Given the description of an element on the screen output the (x, y) to click on. 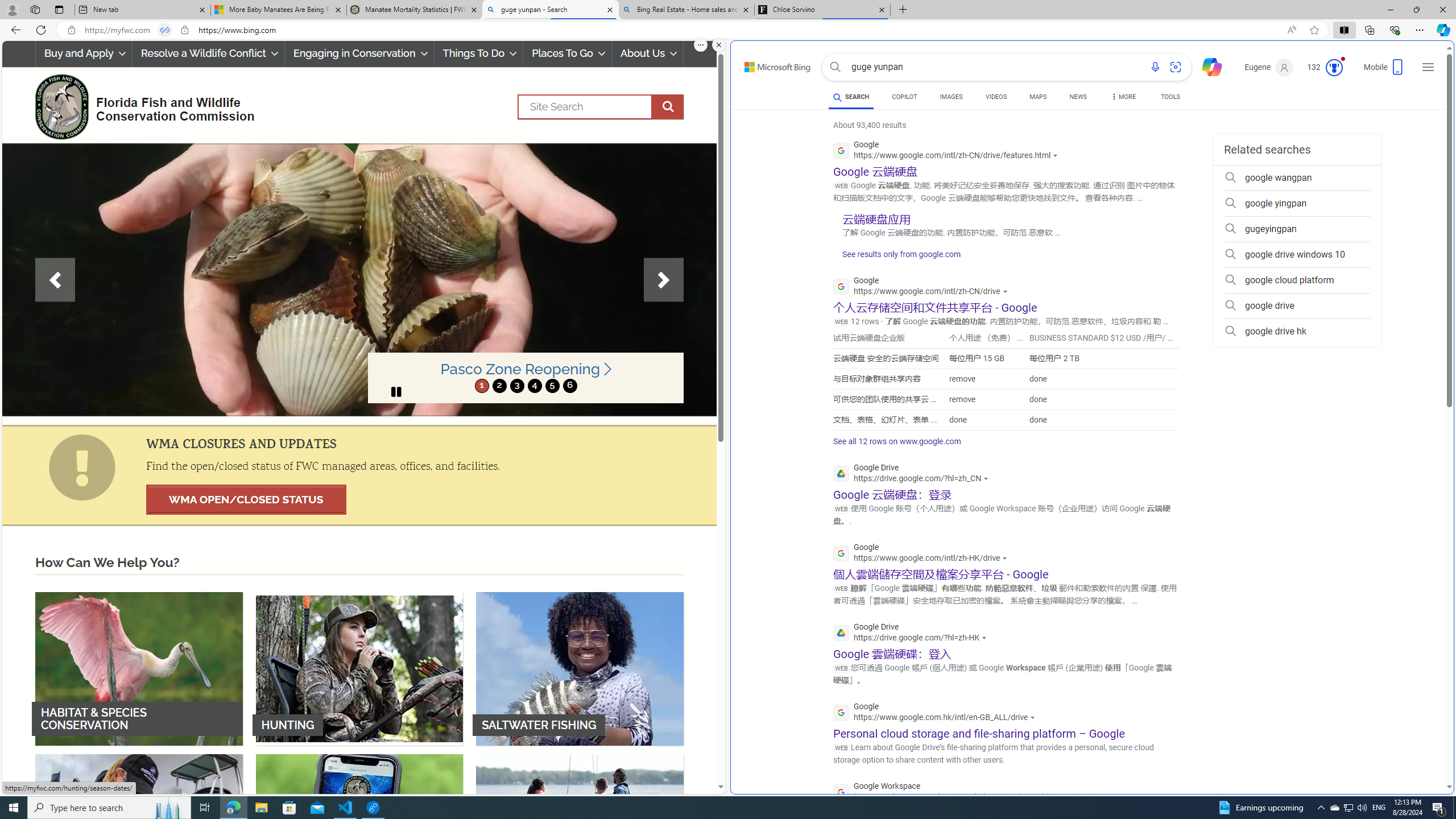
SEARCH (850, 96)
Search (600, 106)
Class: outer-circle-animation (1333, 67)
VIDEOS (995, 96)
App bar (728, 29)
google cloud platform (1297, 280)
Close split screen. (719, 45)
4 (534, 385)
Search button (835, 66)
MORE (1123, 98)
Buy and Apply (84, 53)
MAPS (1038, 98)
google yingpan (1297, 203)
slider pause button (396, 391)
